Given the description of an element on the screen output the (x, y) to click on. 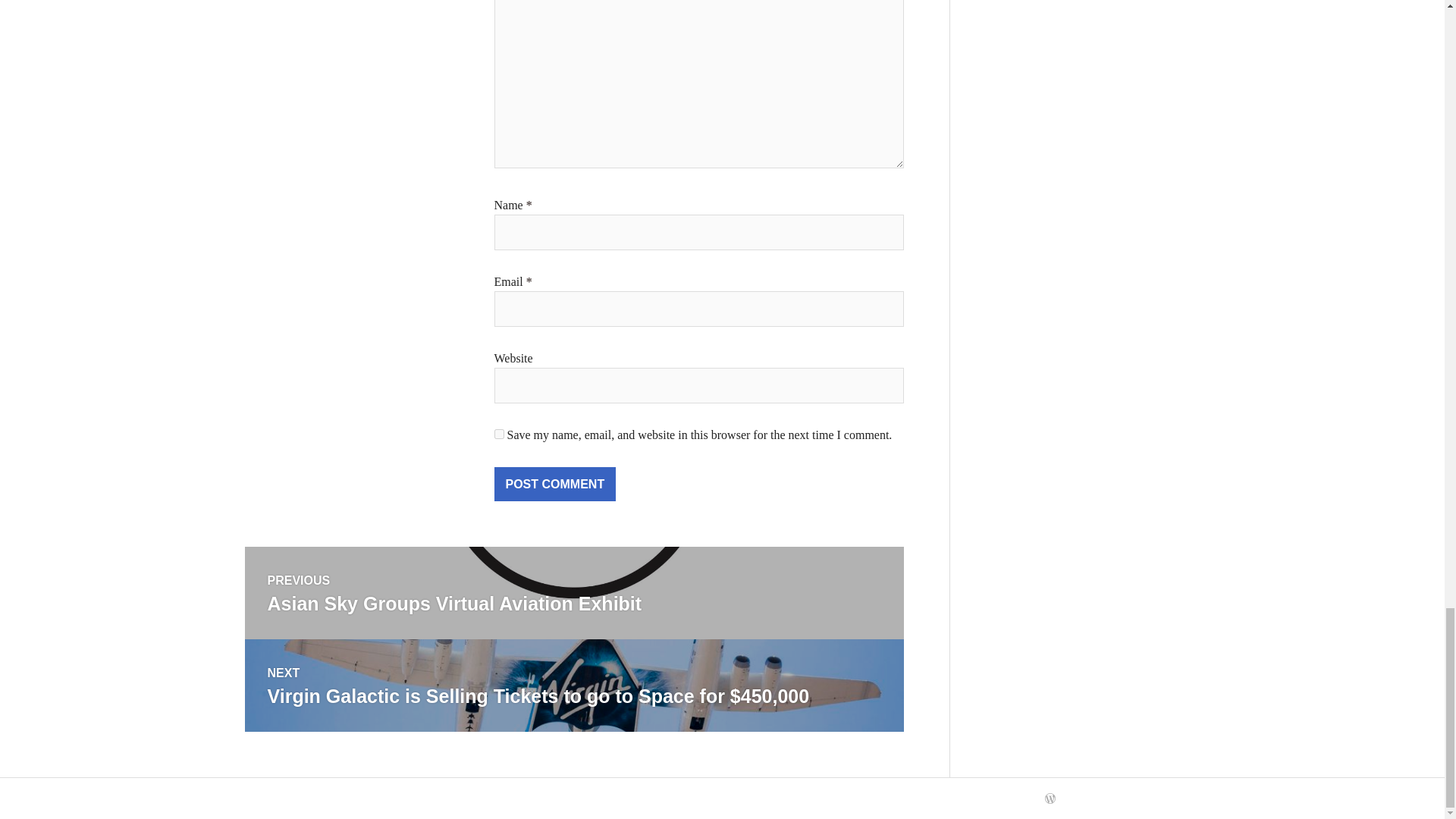
Post Comment (555, 483)
yes (499, 433)
